Given the description of an element on the screen output the (x, y) to click on. 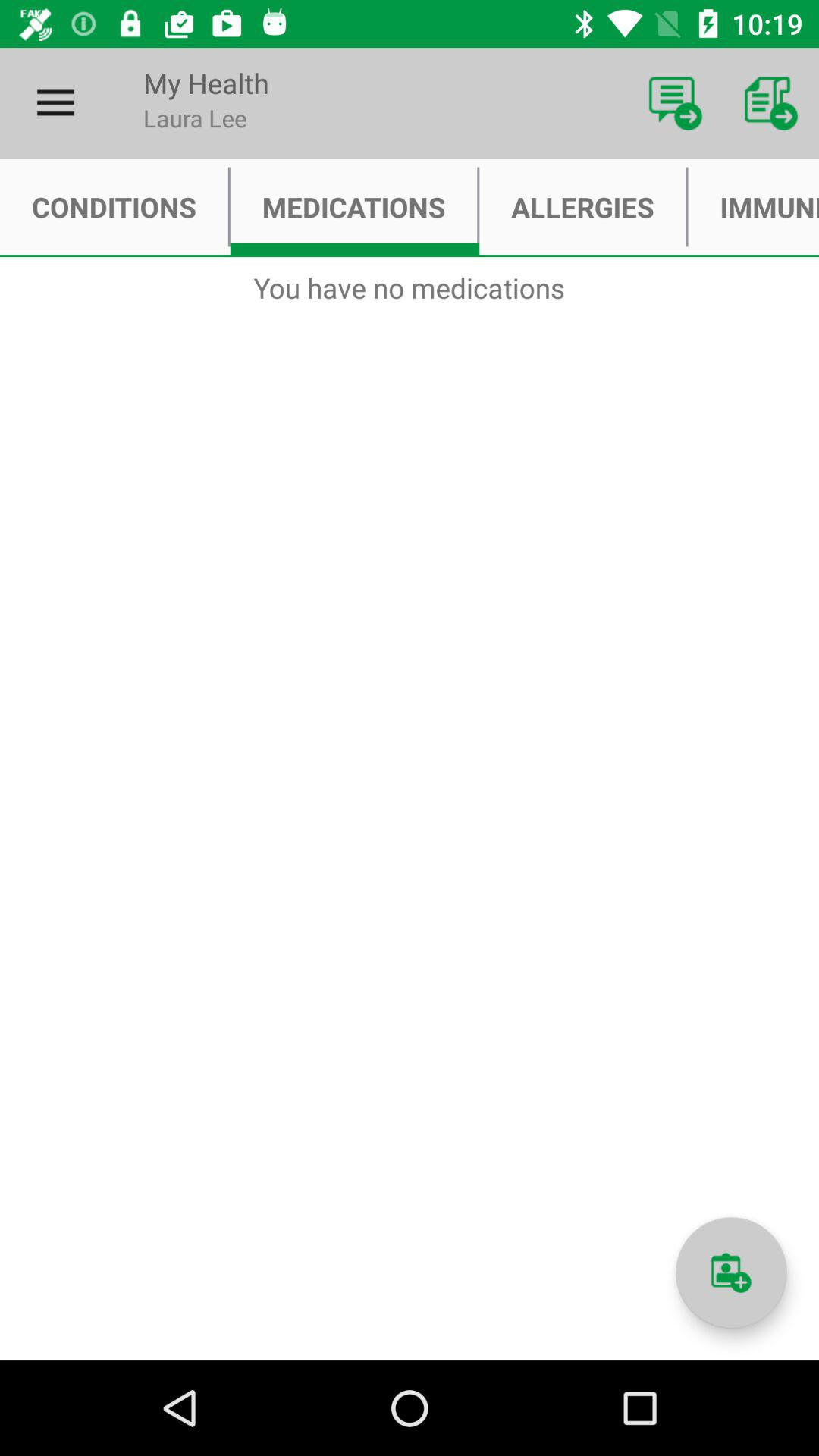
turn on the icon at the bottom right corner (731, 1272)
